Given the description of an element on the screen output the (x, y) to click on. 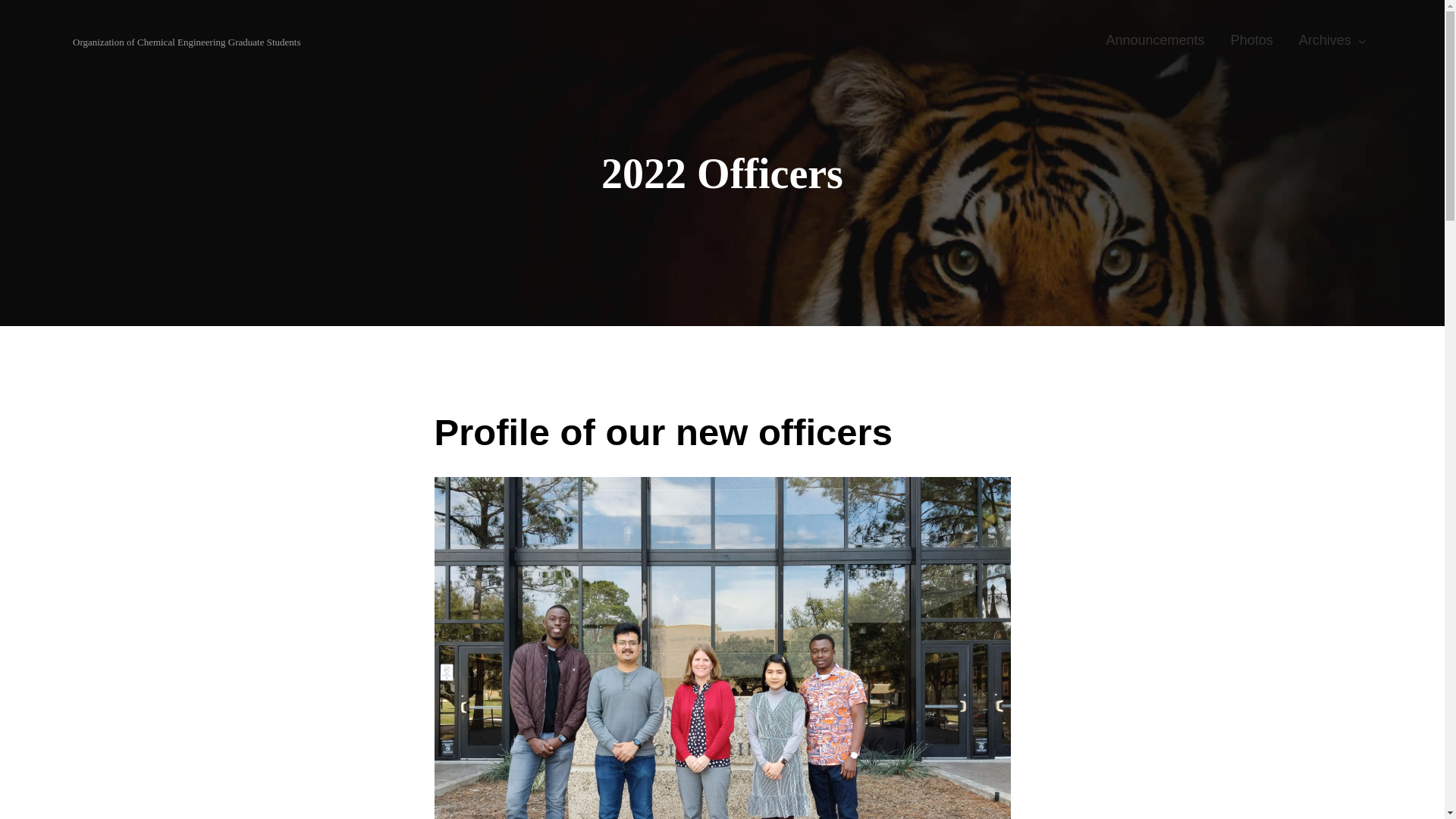
Announcements (1155, 40)
Photos (1251, 40)
Archives (1325, 40)
